Given the description of an element on the screen output the (x, y) to click on. 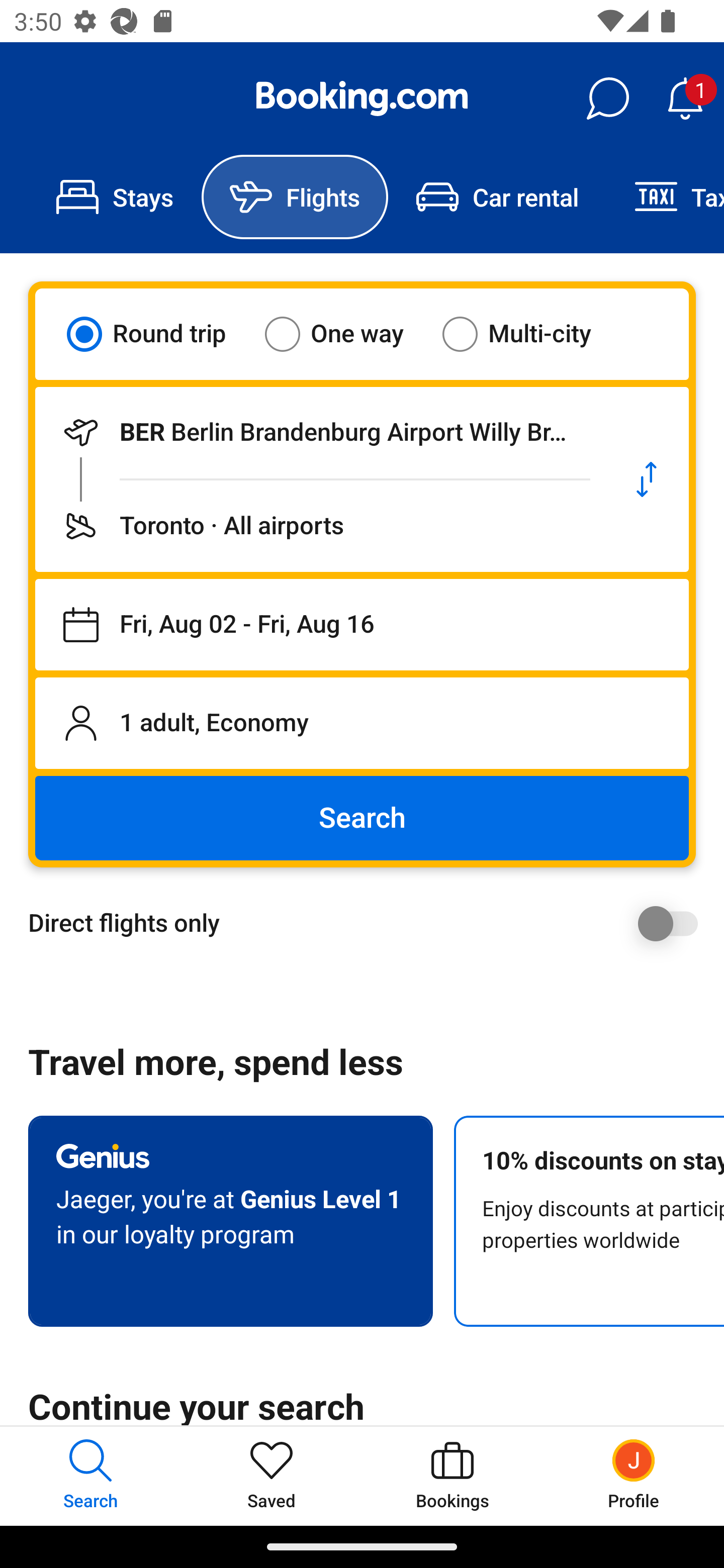
Messages (607, 98)
Notifications (685, 98)
Stays (114, 197)
Flights (294, 197)
Car rental (497, 197)
Taxi (665, 197)
One way (346, 333)
Multi-city (528, 333)
Swap departure location and destination (646, 479)
Flying to Toronto · All airports (319, 525)
Departing on Fri, Aug 02, returning on Fri, Aug 16 (361, 624)
1 adult, Economy (361, 722)
Search (361, 818)
Direct flights only (369, 923)
Saved (271, 1475)
Bookings (452, 1475)
Profile (633, 1475)
